Given the description of an element on the screen output the (x, y) to click on. 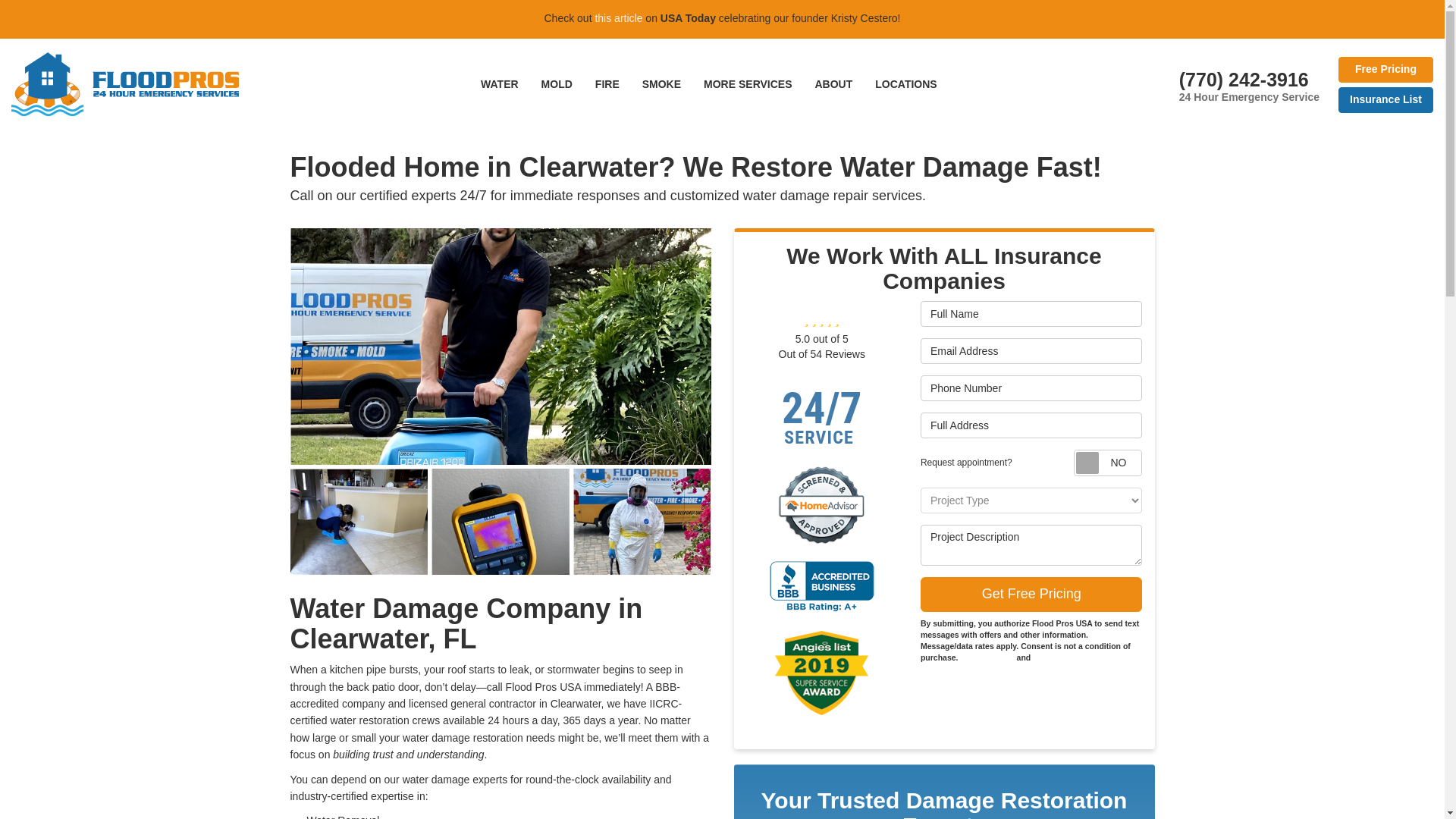
Free Pricing (1385, 69)
Insurance List (1385, 99)
Free Pricing (1385, 69)
this article (618, 18)
